Given the description of an element on the screen output the (x, y) to click on. 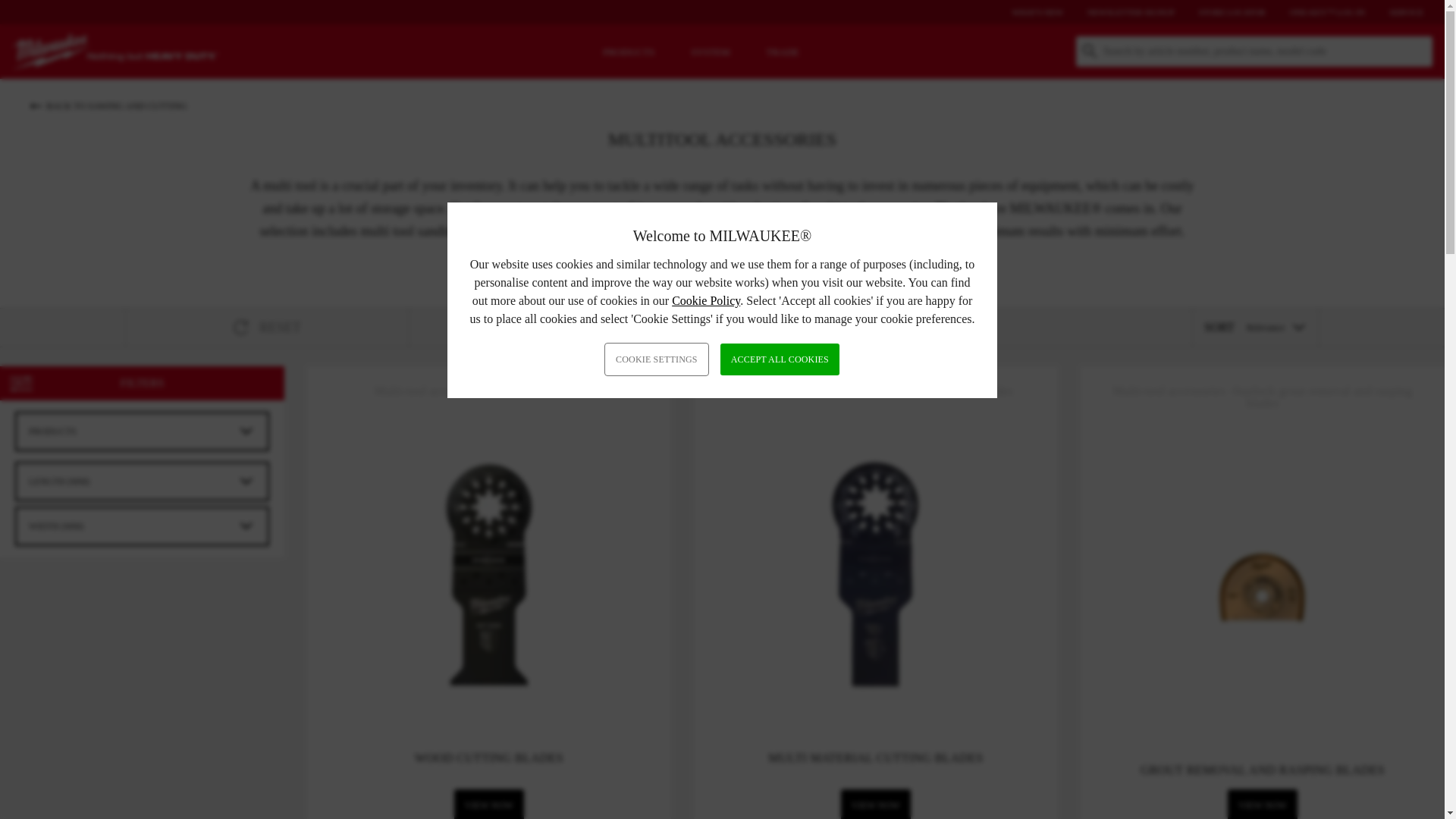
ACCEPT ALL COOKIES (780, 359)
NEWSLETTER SIGNUP (1130, 11)
SERVICE (1406, 11)
Cookie Policy (705, 300)
STORE LOCATOR (1232, 11)
WHAT'S NEW (1037, 11)
COOKIE SETTINGS (656, 359)
